Given the description of an element on the screen output the (x, y) to click on. 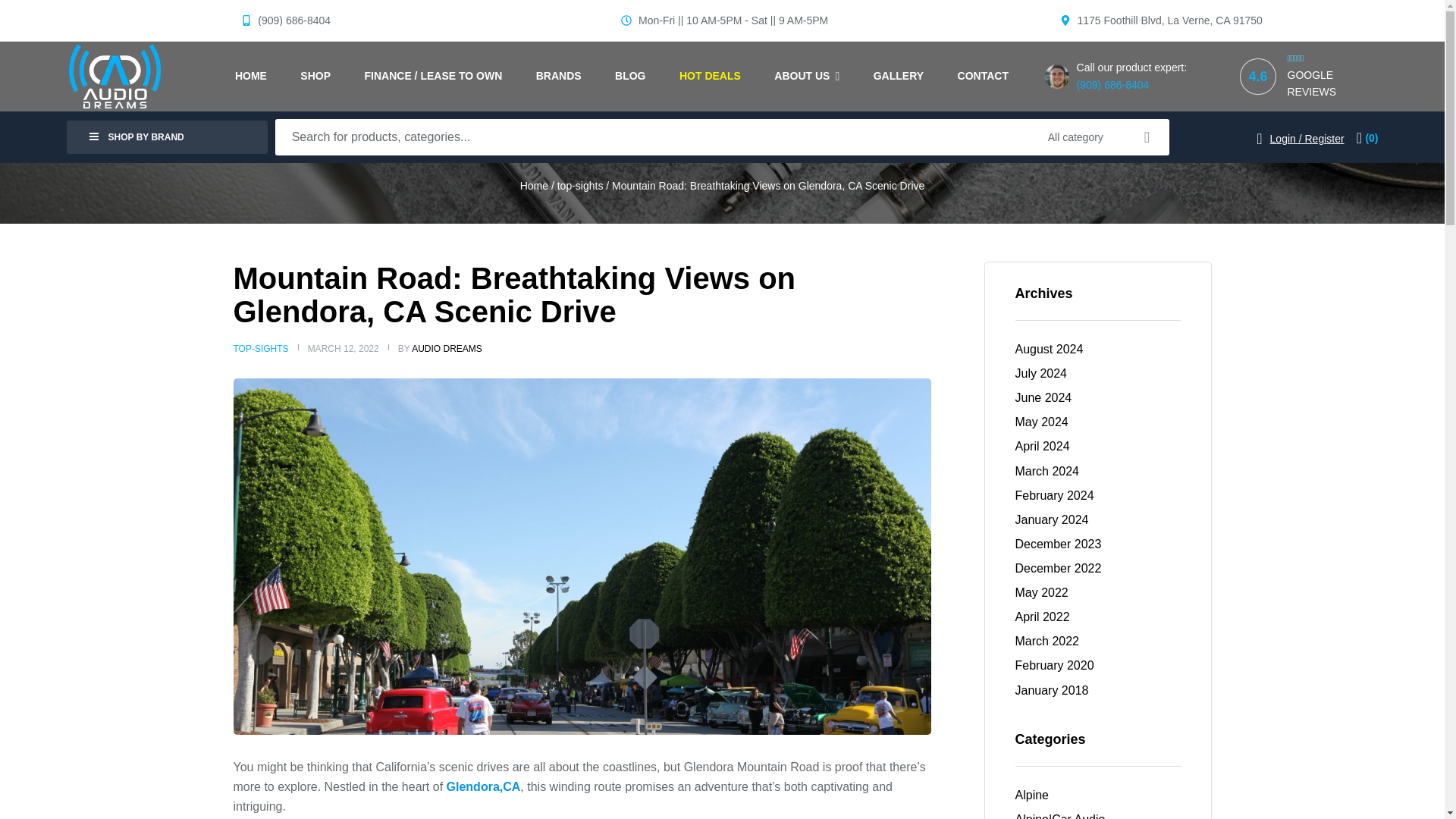
All category (1059, 136)
1175 Foothill Blvd, La Verne, CA 91750 (1160, 20)
BRANDS (558, 76)
HOME (250, 76)
CONTACT (982, 76)
HOT DEALS (709, 76)
View your shopping cart (1367, 137)
GALLERY (899, 76)
ABOUT US (806, 76)
SHOP BY BRAND (166, 136)
